Given the description of an element on the screen output the (x, y) to click on. 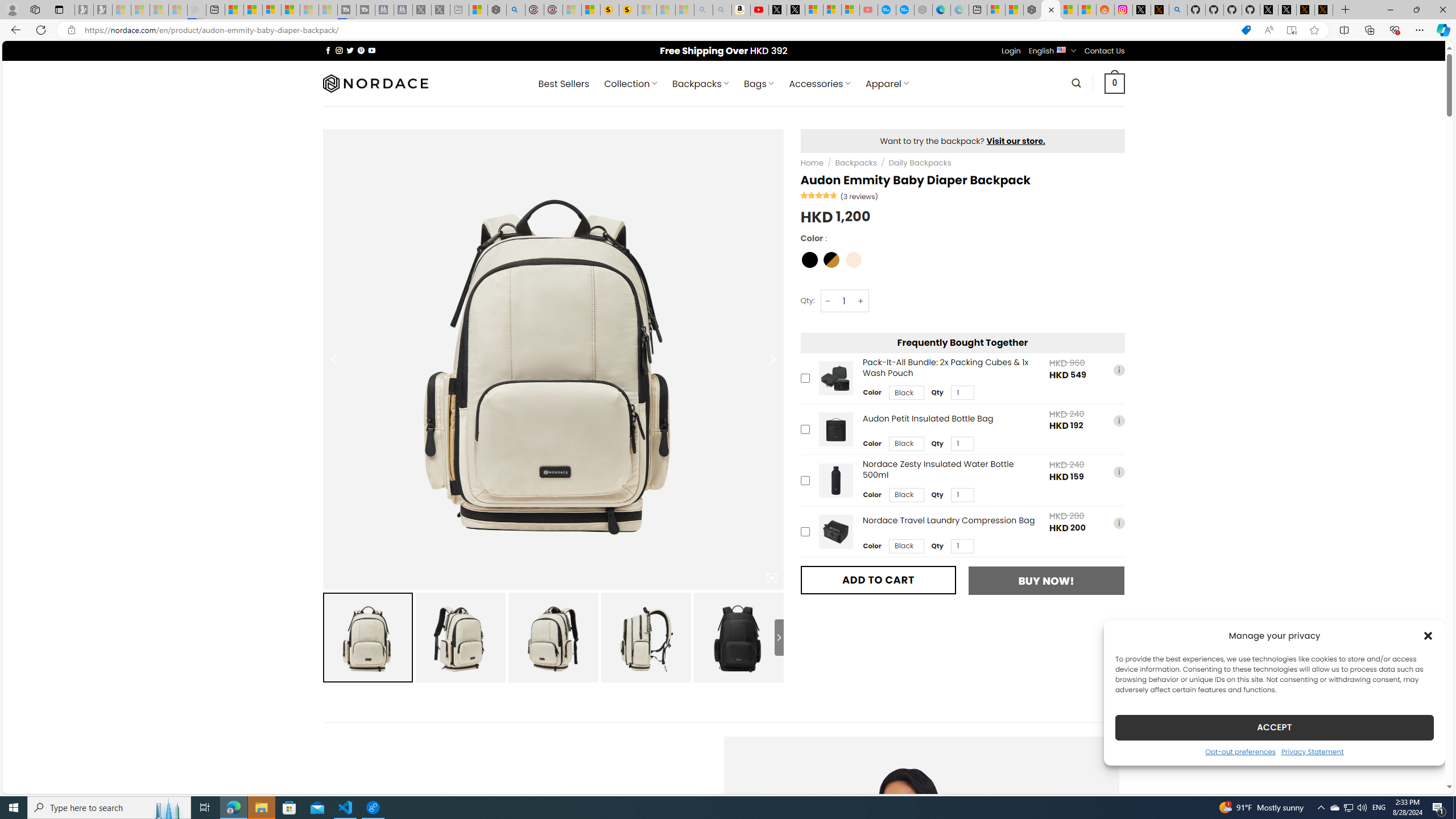
Gloom - YouTube - Sleeping (868, 9)
ADD TO CART (878, 579)
Nordace Zesty Insulated Water Bottle 500ml (835, 479)
BUY NOW! (1046, 580)
Class: cmplz-close (1428, 635)
Audon Petit Insulated Bottle Bag (835, 429)
Amazon Echo Dot PNG - Search Images - Sleeping (721, 9)
